Given the description of an element on the screen output the (x, y) to click on. 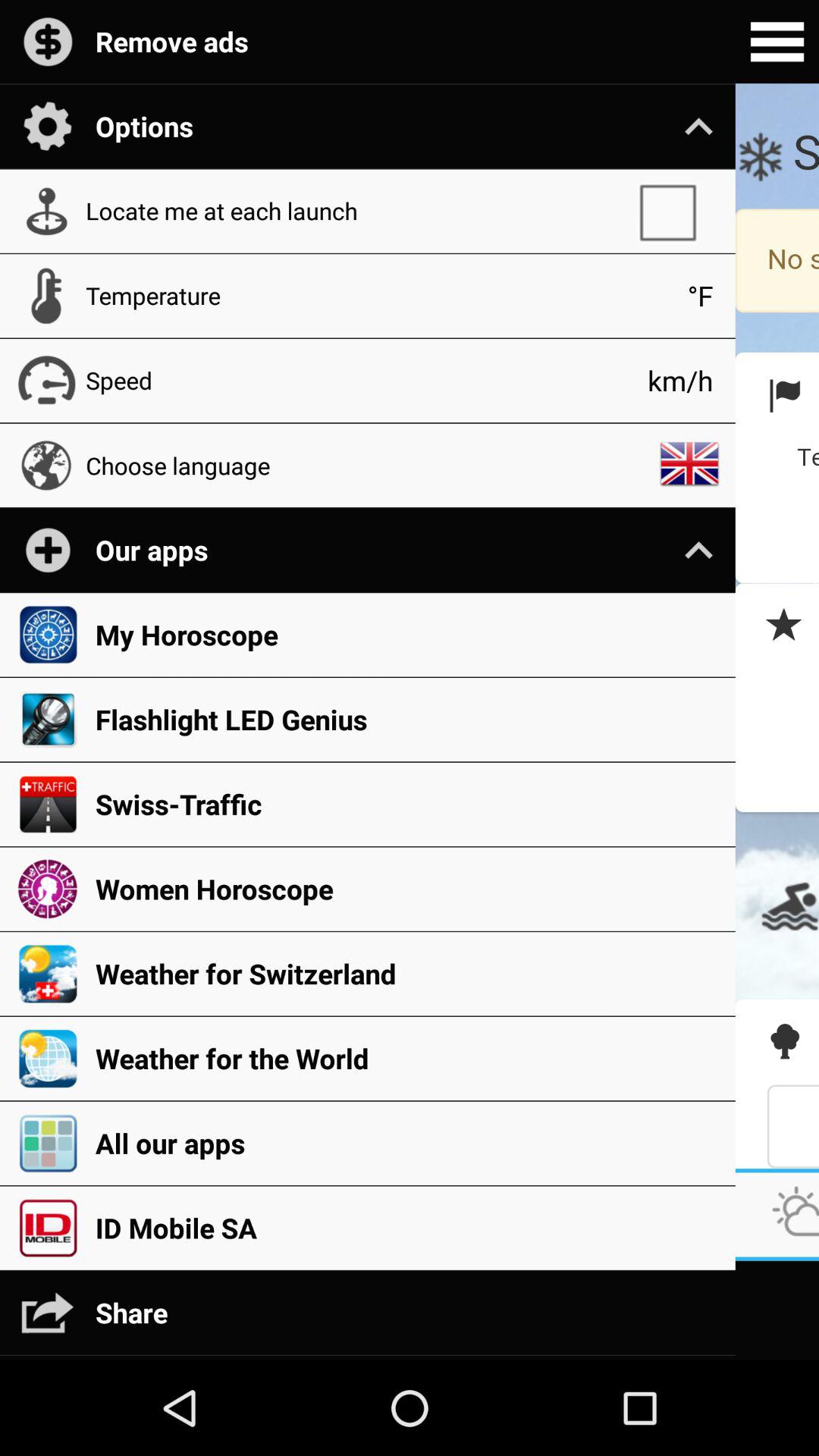
scroll until options item (407, 126)
